Given the description of an element on the screen output the (x, y) to click on. 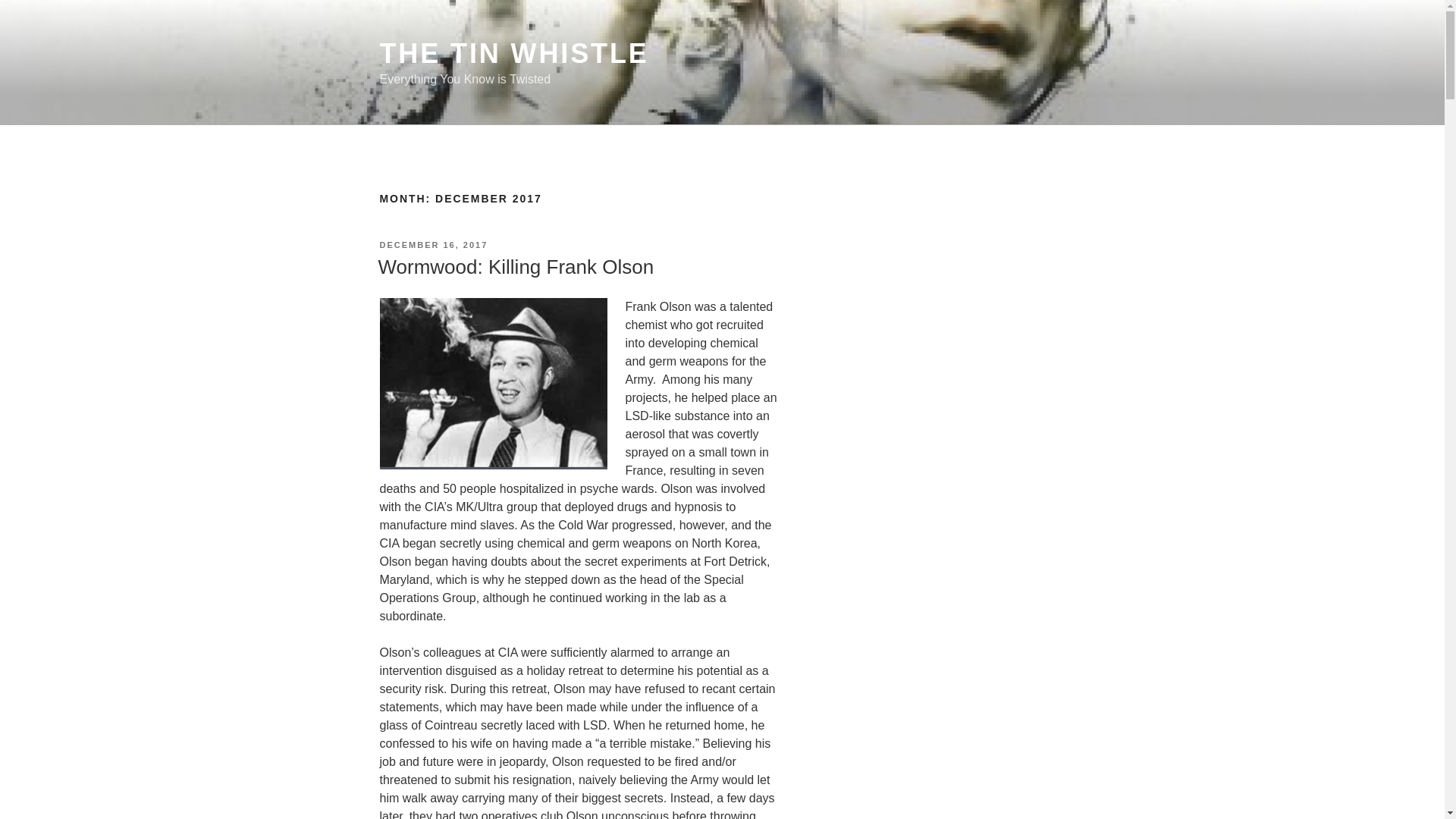
YouTube video player (941, 358)
Wormwood: Killing Frank Olson (515, 266)
DECEMBER 16, 2017 (432, 244)
Everything You Know is Twisted (941, 674)
THE TIN WHISTLE (512, 52)
